Given the description of an element on the screen output the (x, y) to click on. 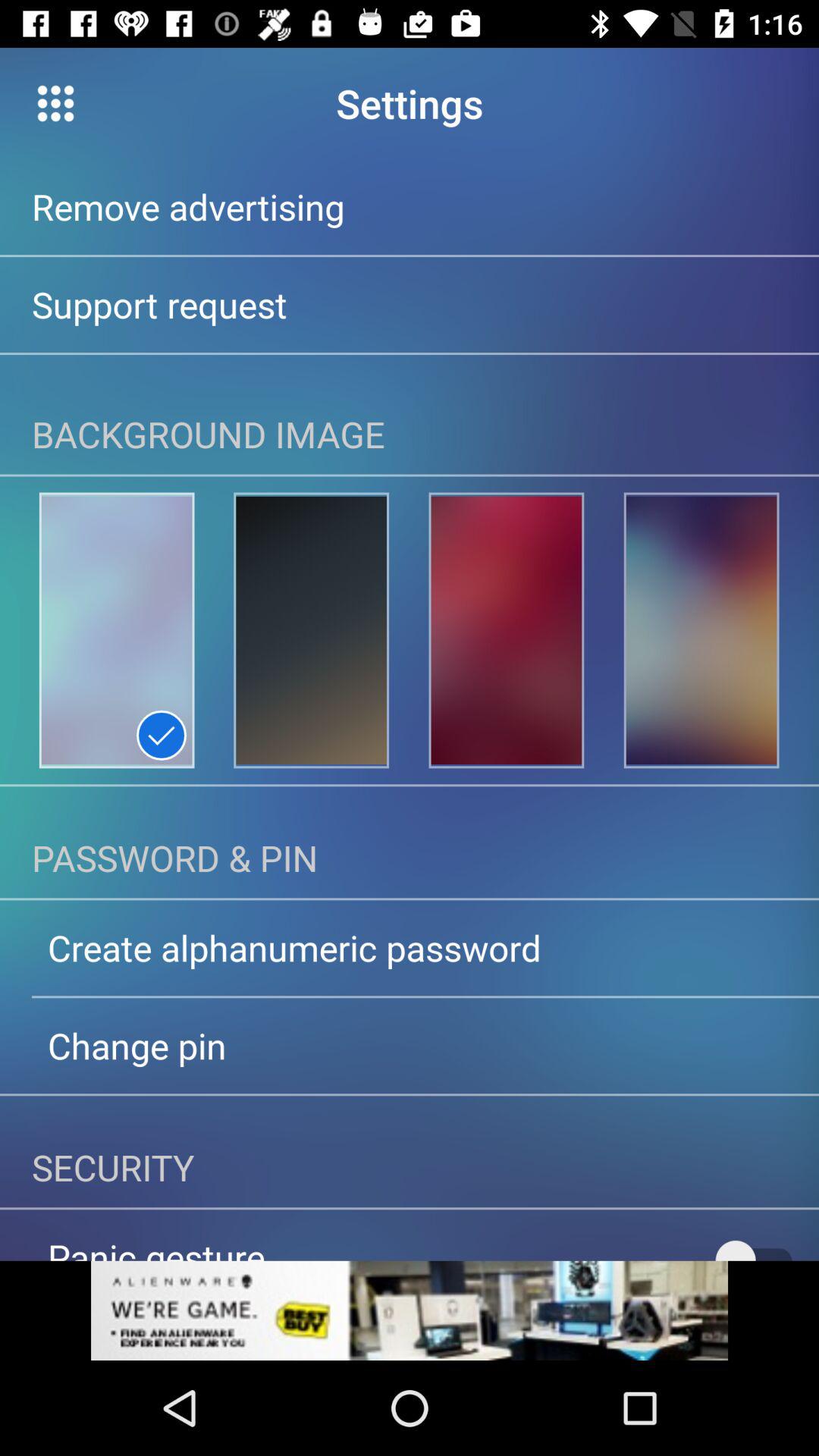
go t image button (116, 630)
